Given the description of an element on the screen output the (x, y) to click on. 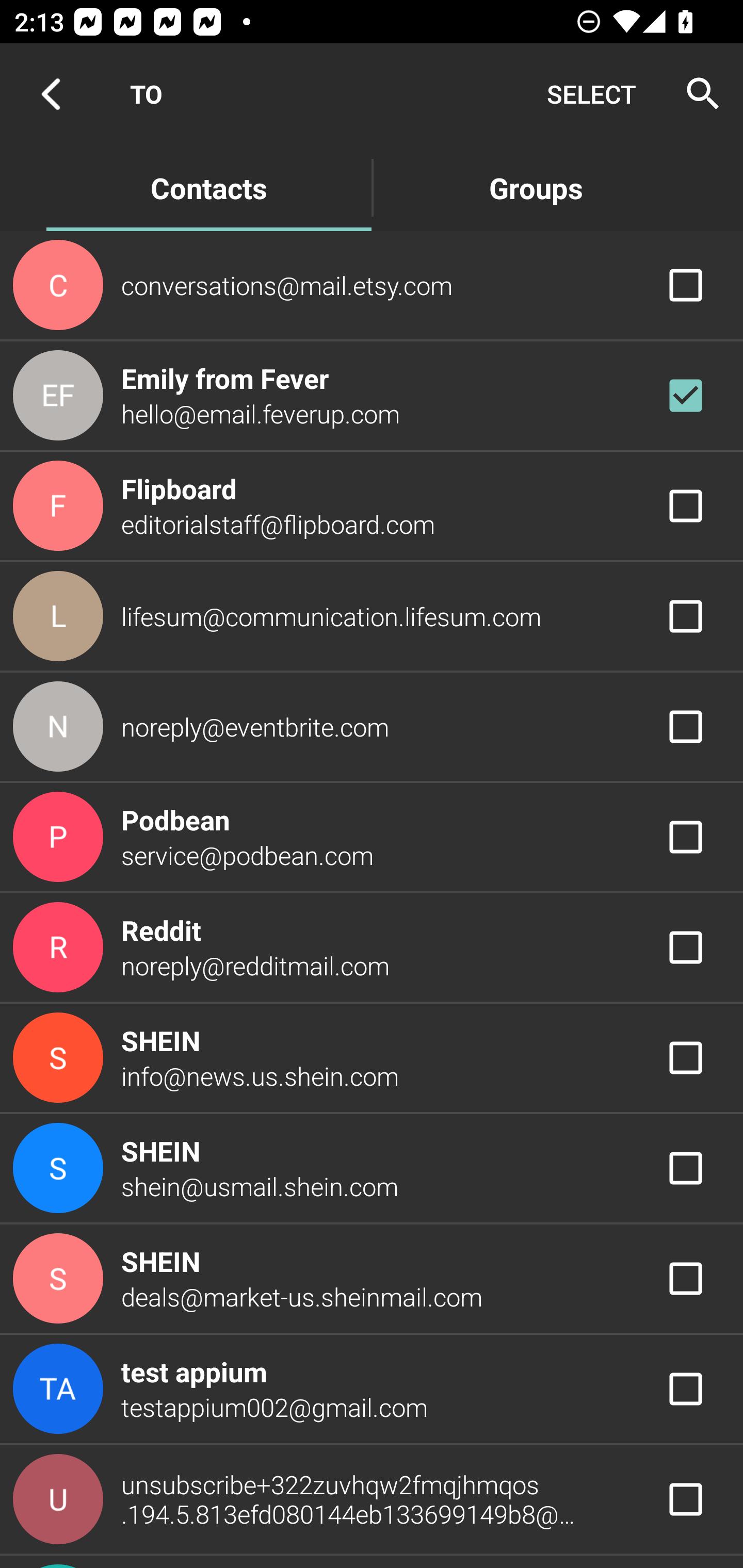
Navigate up (50, 93)
SELECT (590, 93)
Search (696, 93)
Contacts (208, 187)
Groups (535, 187)
conversations@mail.etsy.com (371, 284)
Emily from Fever hello@email.feverup.com (371, 395)
Flipboard editorialstaff@flipboard.com (371, 505)
lifesum@communication.lifesum.com (371, 616)
noreply@eventbrite.com (371, 726)
Podbean service@podbean.com (371, 836)
Reddit noreply@redditmail.com (371, 947)
SHEIN info@news.us.shein.com (371, 1057)
SHEIN shein@usmail.shein.com (371, 1168)
SHEIN deals@market-us.sheinmail.com (371, 1278)
test appium testappium002@gmail.com (371, 1388)
